Given the description of an element on the screen output the (x, y) to click on. 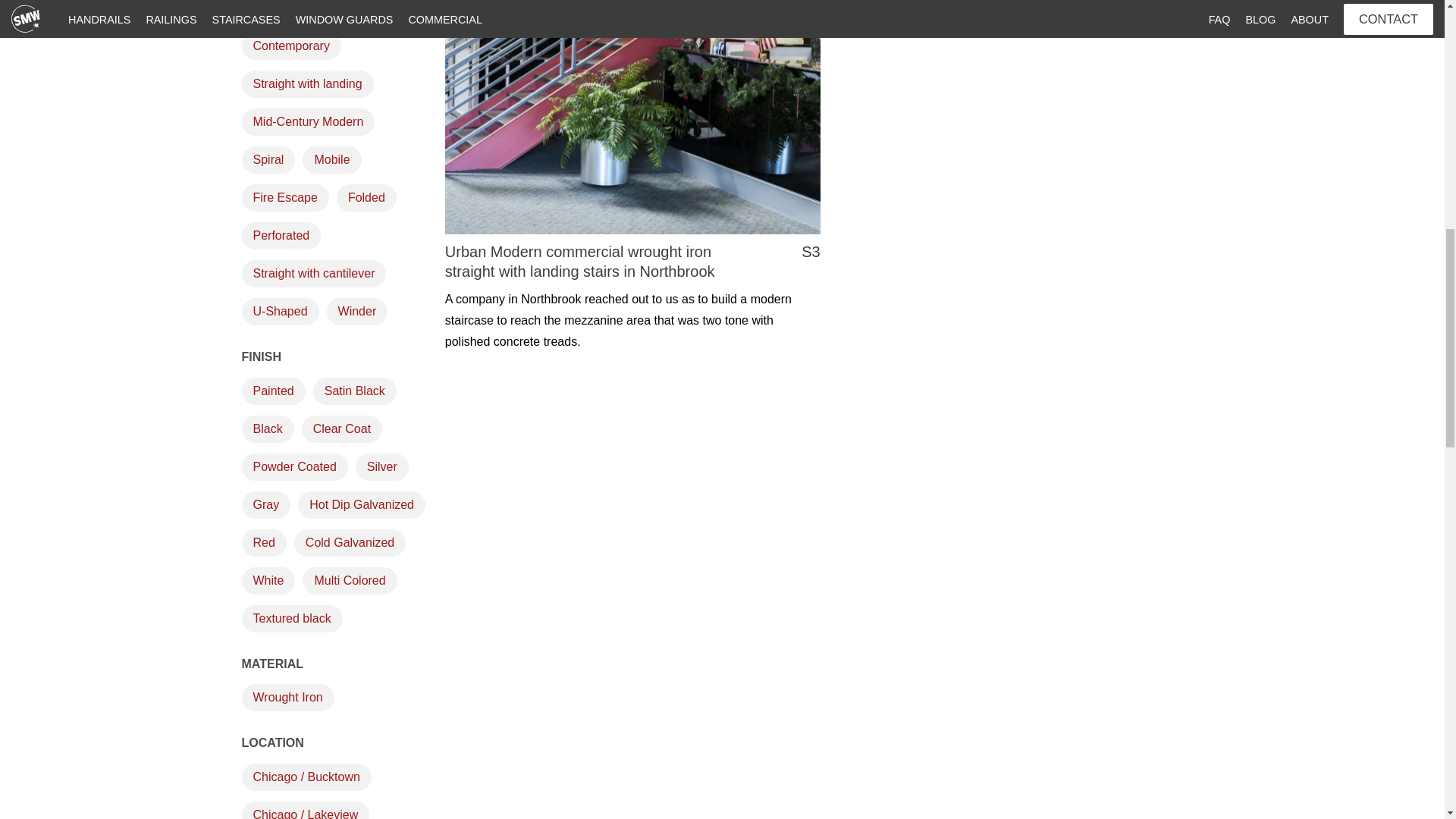
Black (267, 429)
Folded (366, 197)
Open Riser (338, 11)
Contemporary (290, 45)
Painted (272, 390)
Satin Black (354, 390)
Winder (357, 311)
Powder Coated (294, 466)
Straight with landing (306, 83)
Clear Coat (341, 429)
Mobile (331, 159)
Mid-Century Modern (307, 121)
ADA (264, 11)
Straight with cantilever (313, 273)
